Given the description of an element on the screen output the (x, y) to click on. 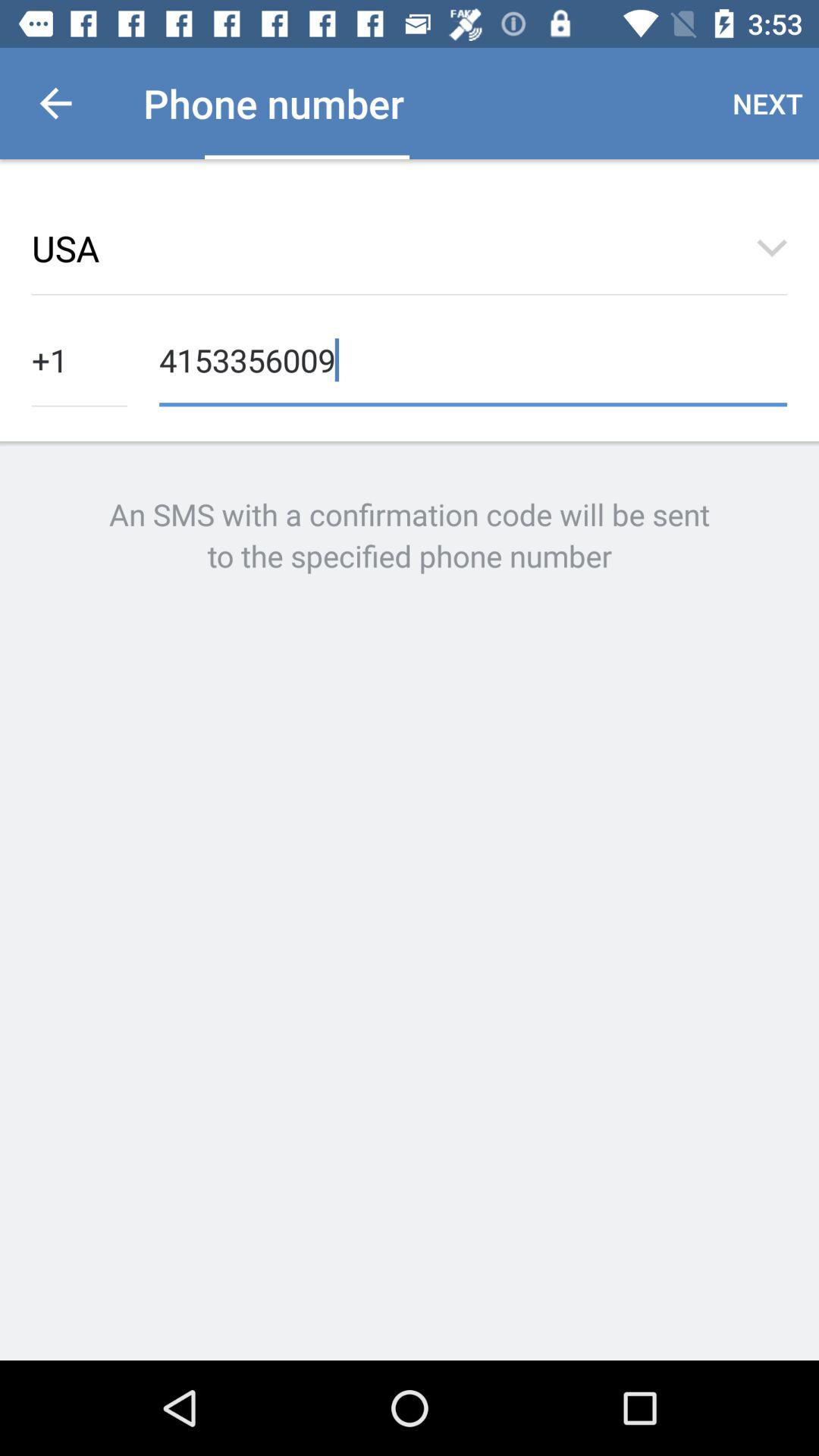
turn on icon to the left of the phone number icon (55, 103)
